Given the description of an element on the screen output the (x, y) to click on. 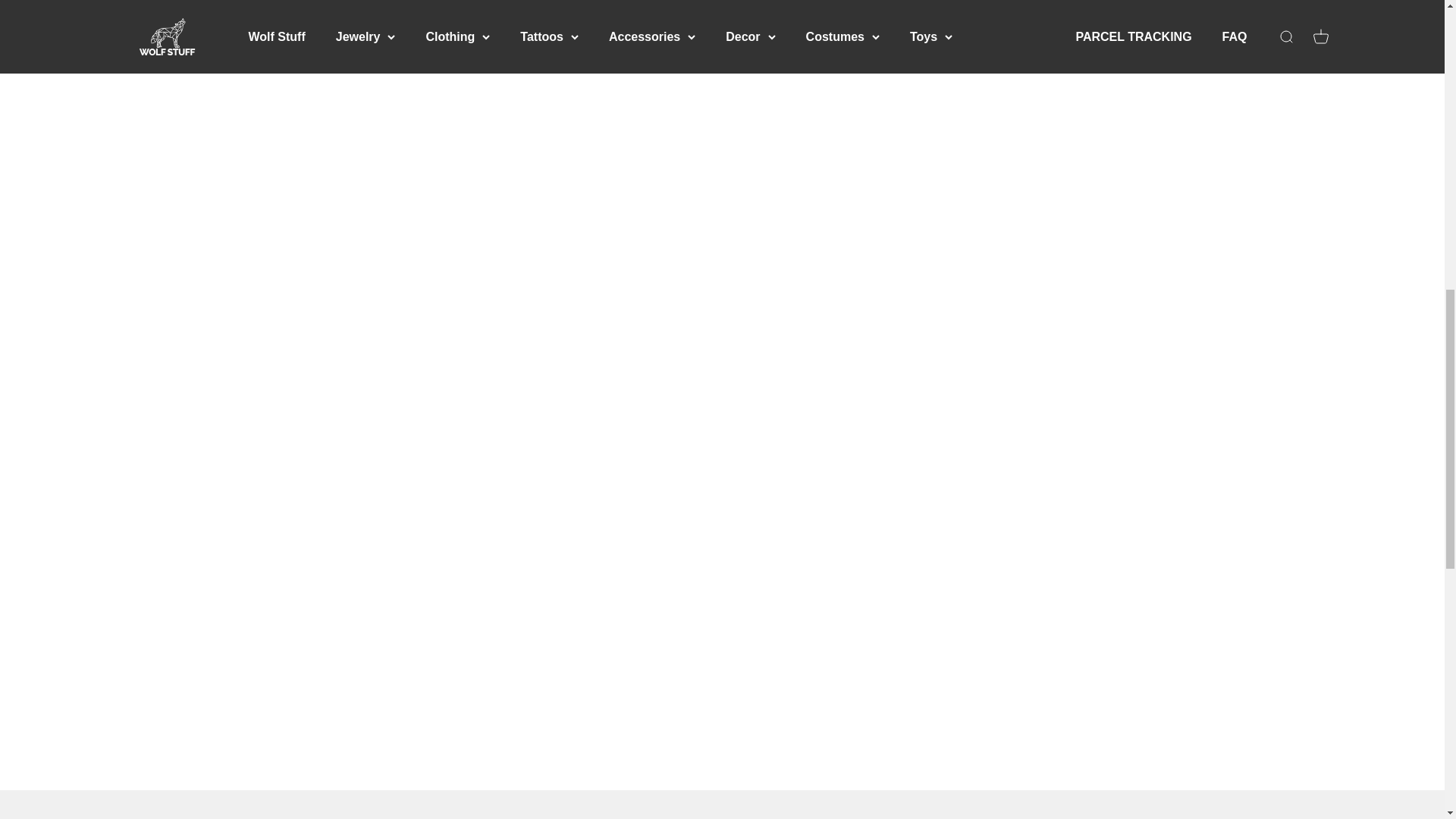
Product reviews widget (722, 60)
